Given the description of an element on the screen output the (x, y) to click on. 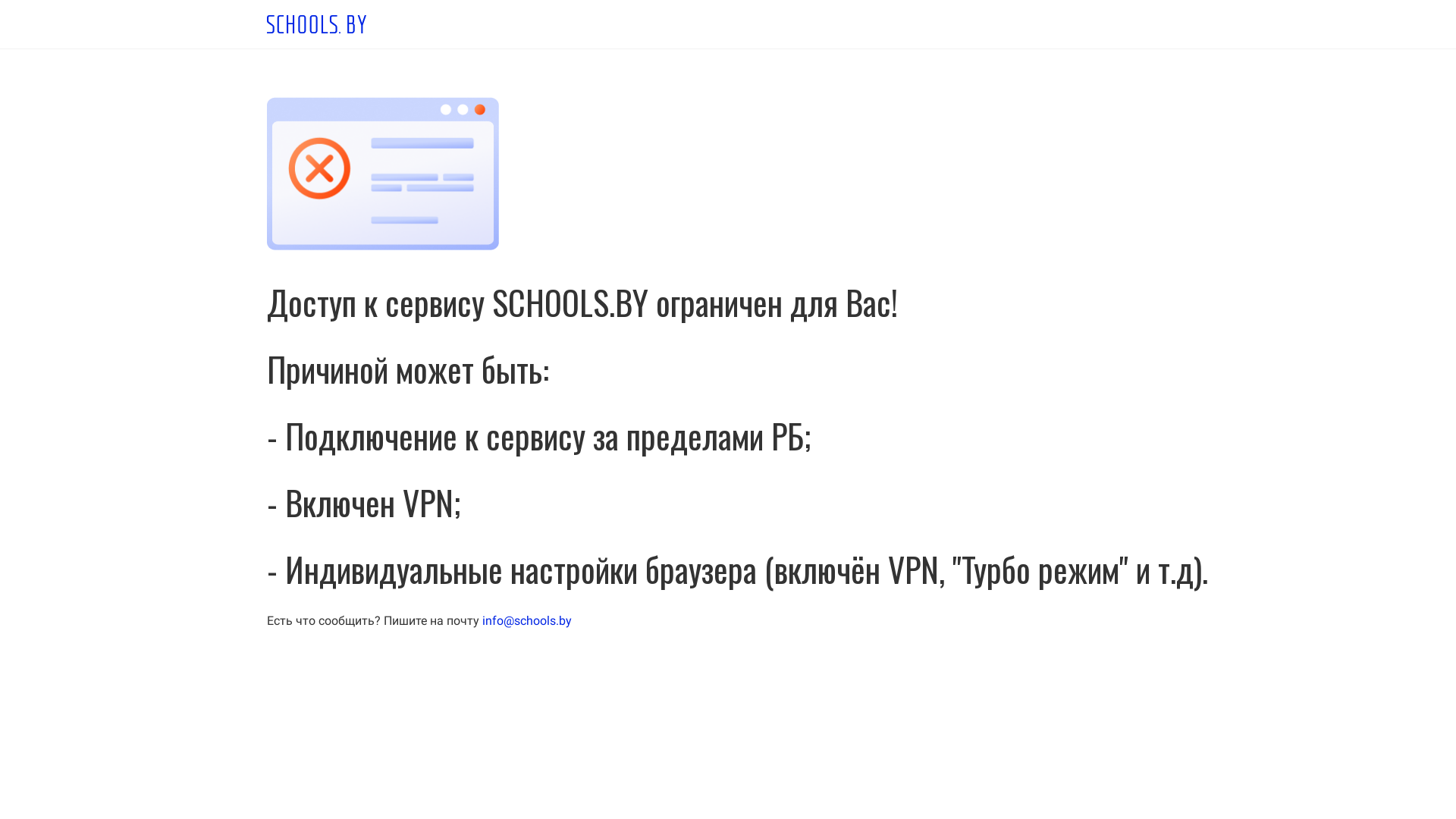
info@schools.by Element type: text (526, 620)
